Given the description of an element on the screen output the (x, y) to click on. 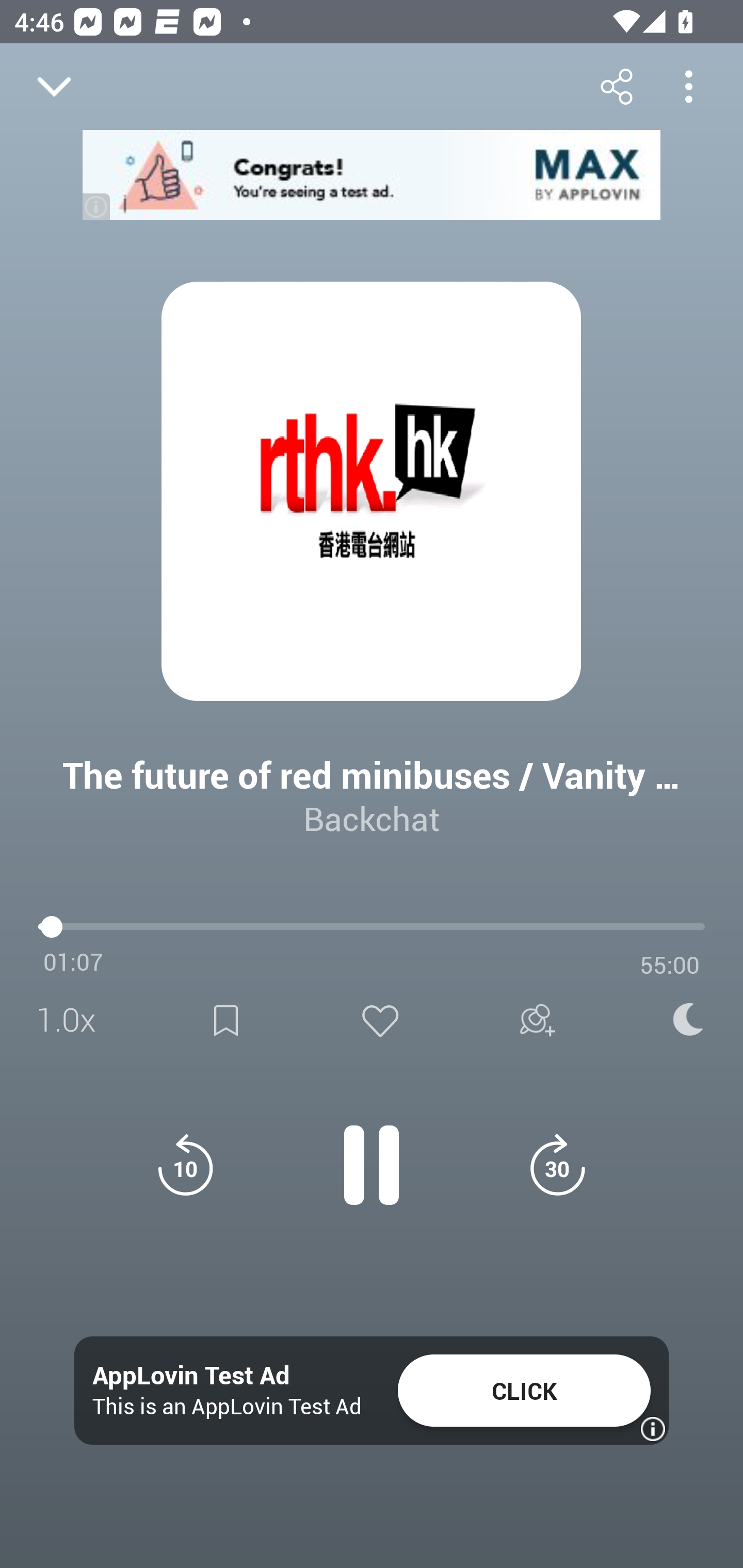
Close fullscreen player (54, 86)
Share (616, 86)
More options (688, 86)
app-monetization (371, 175)
(i) (96, 206)
Backchat (371, 818)
55:00 (669, 964)
1.0x Speed (72, 1020)
Like (380, 1020)
Pause button (371, 1153)
Jump back (185, 1164)
Jump forward (557, 1164)
CLICK (523, 1390)
AppLovin Test Ad (191, 1375)
This is an AppLovin Test Ad (226, 1406)
